Given the description of an element on the screen output the (x, y) to click on. 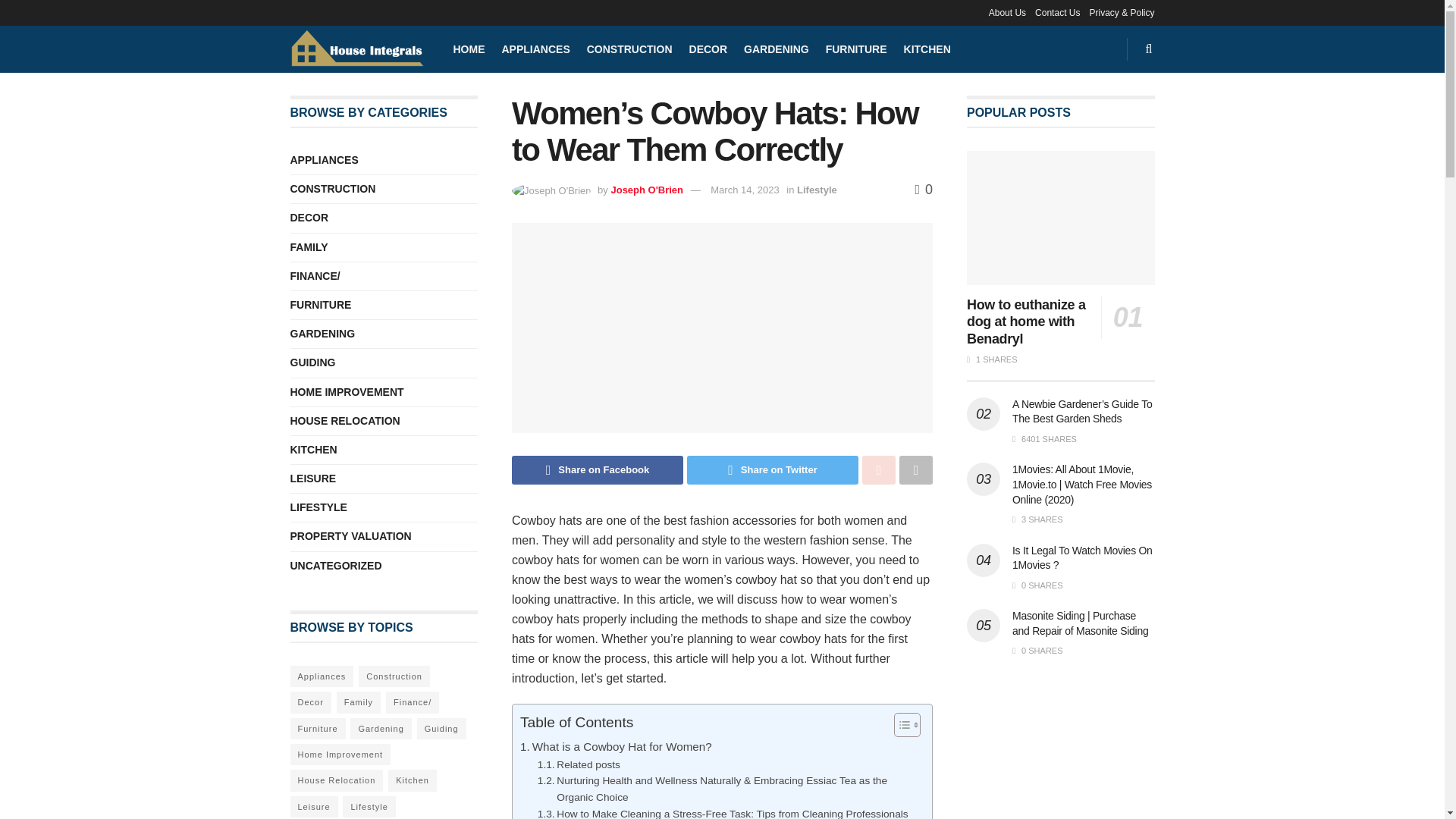
GARDENING (776, 48)
0 (923, 189)
Joseph O'Brien (646, 189)
What is a Cowboy Hat for Women? (615, 746)
KITCHEN (927, 48)
Share on Facebook (597, 469)
March 14, 2023 (744, 189)
CONSTRUCTION (629, 48)
FURNITURE (855, 48)
